Given the description of an element on the screen output the (x, y) to click on. 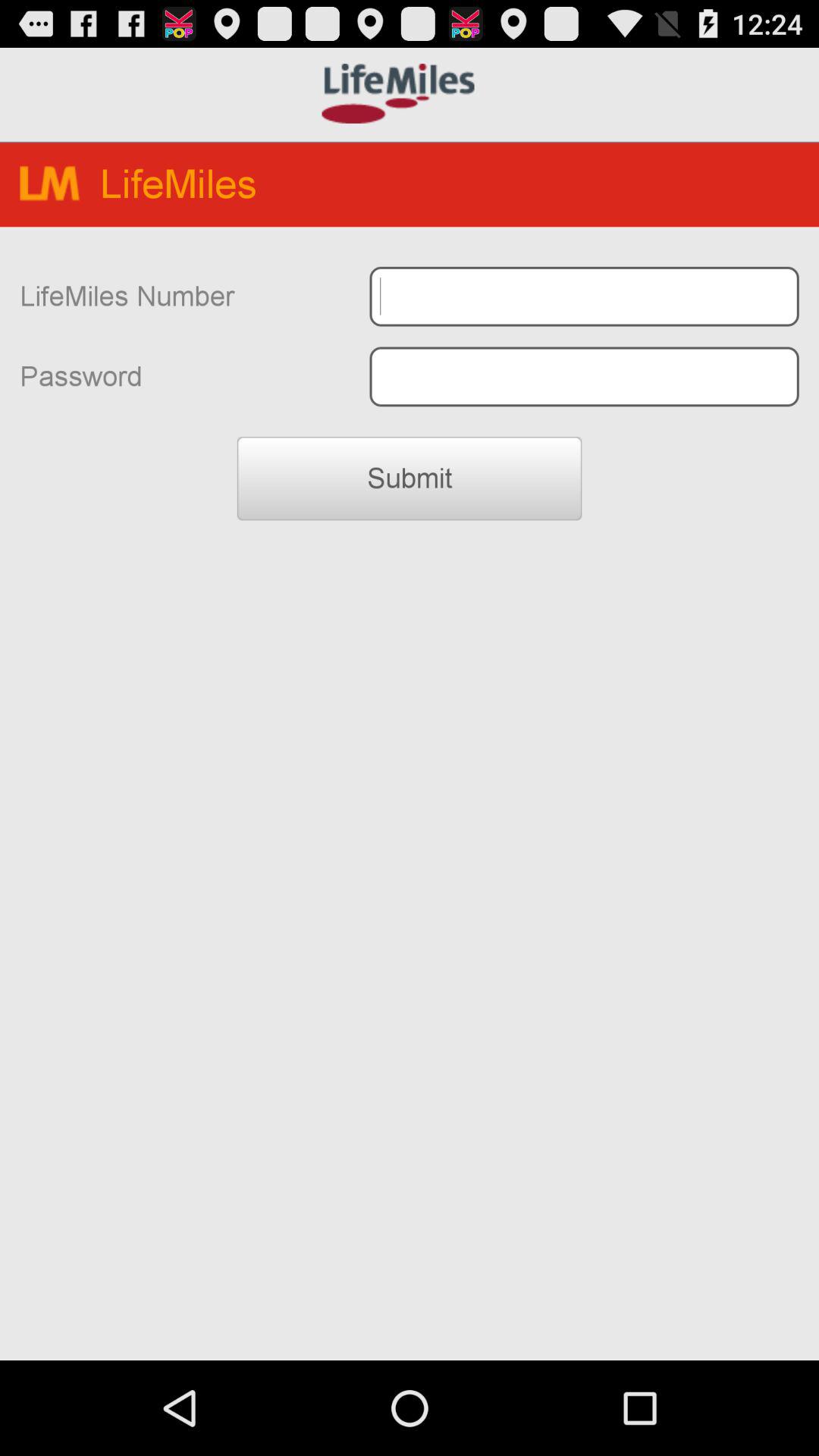
click on the input password option (584, 376)
